Given the description of an element on the screen output the (x, y) to click on. 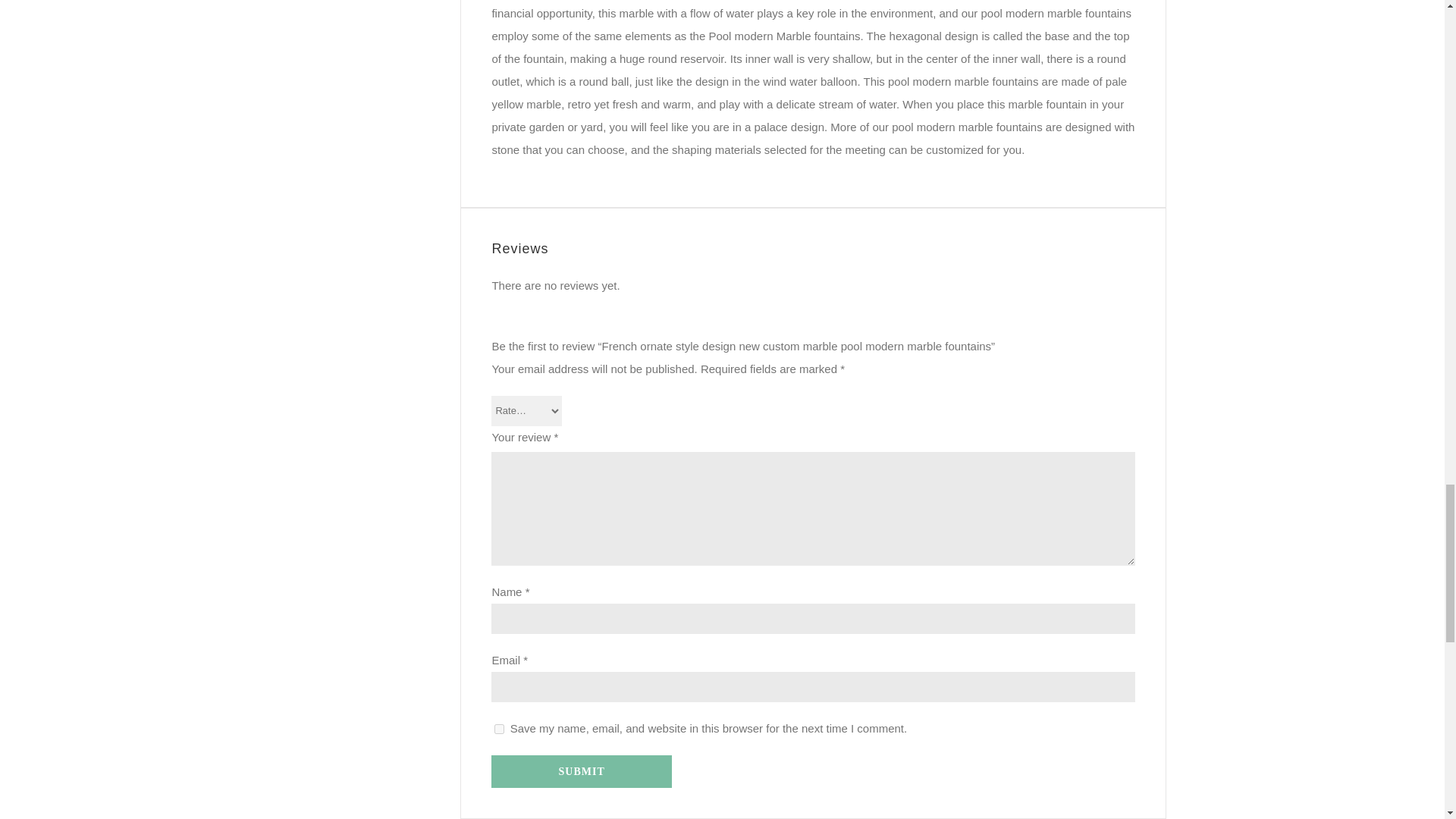
Submit (581, 771)
yes (499, 728)
